Given the description of an element on the screen output the (x, y) to click on. 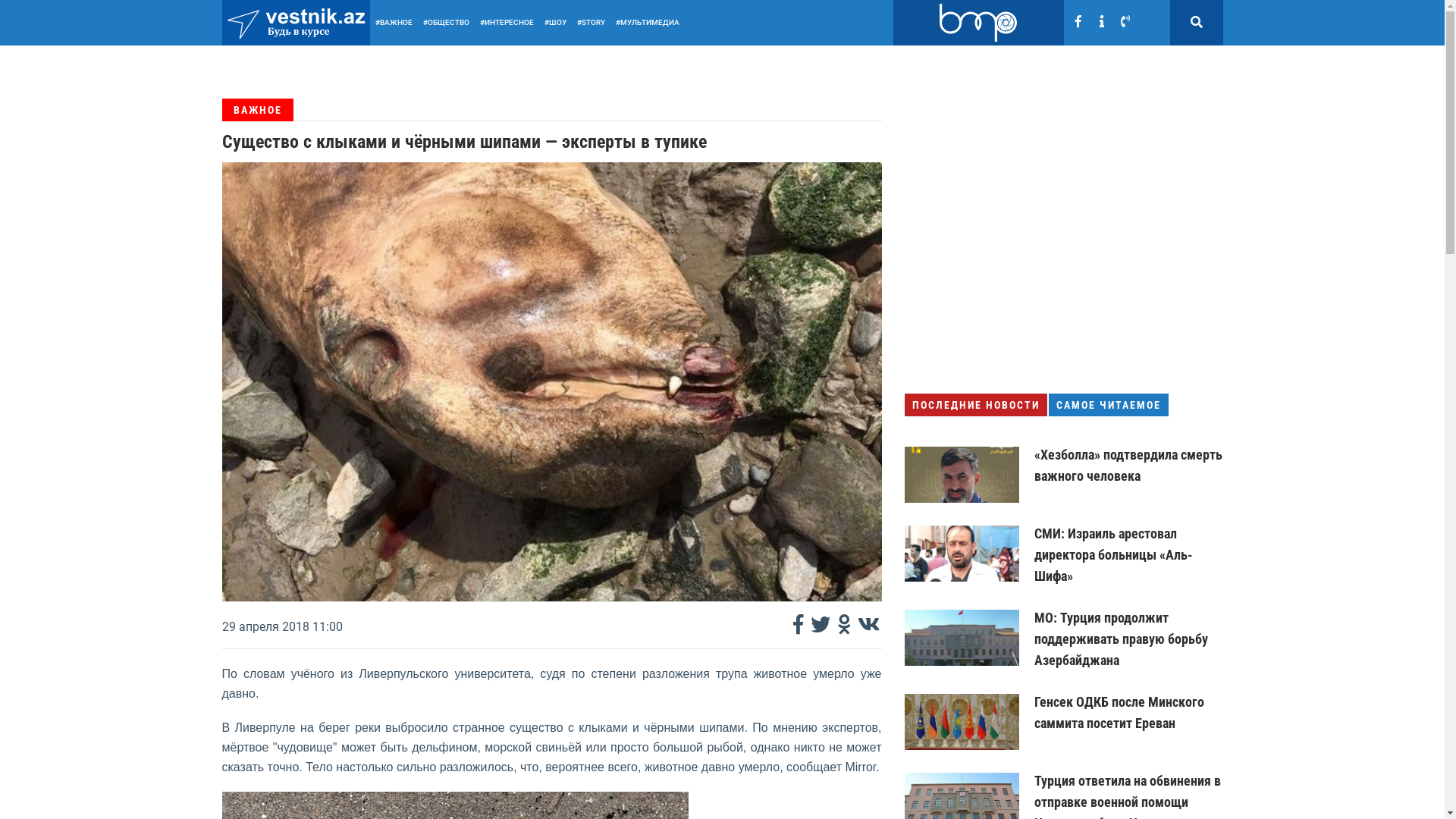
Advertisement Element type: hover (1062, 256)
#STORY Element type: text (590, 22)
